Given the description of an element on the screen output the (x, y) to click on. 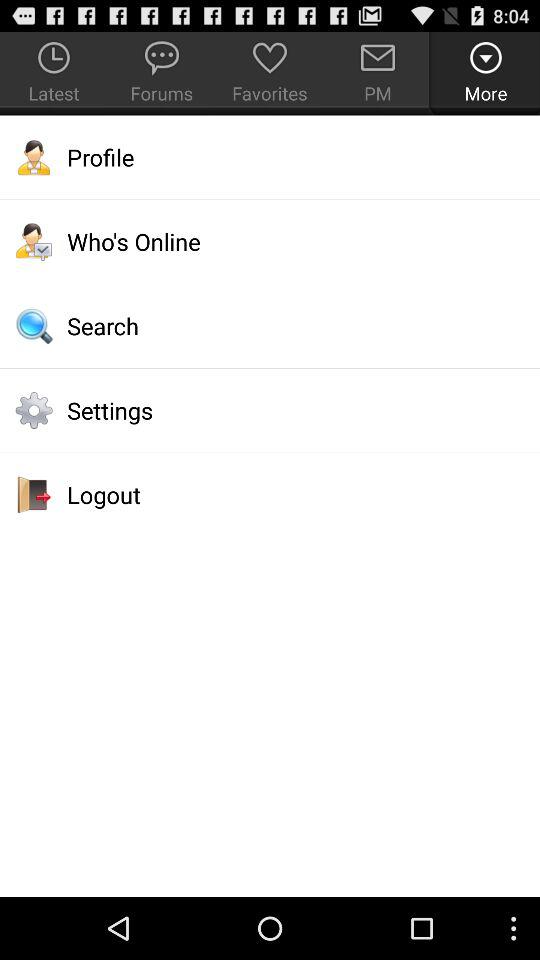
jump to the   settings item (270, 410)
